Given the description of an element on the screen output the (x, y) to click on. 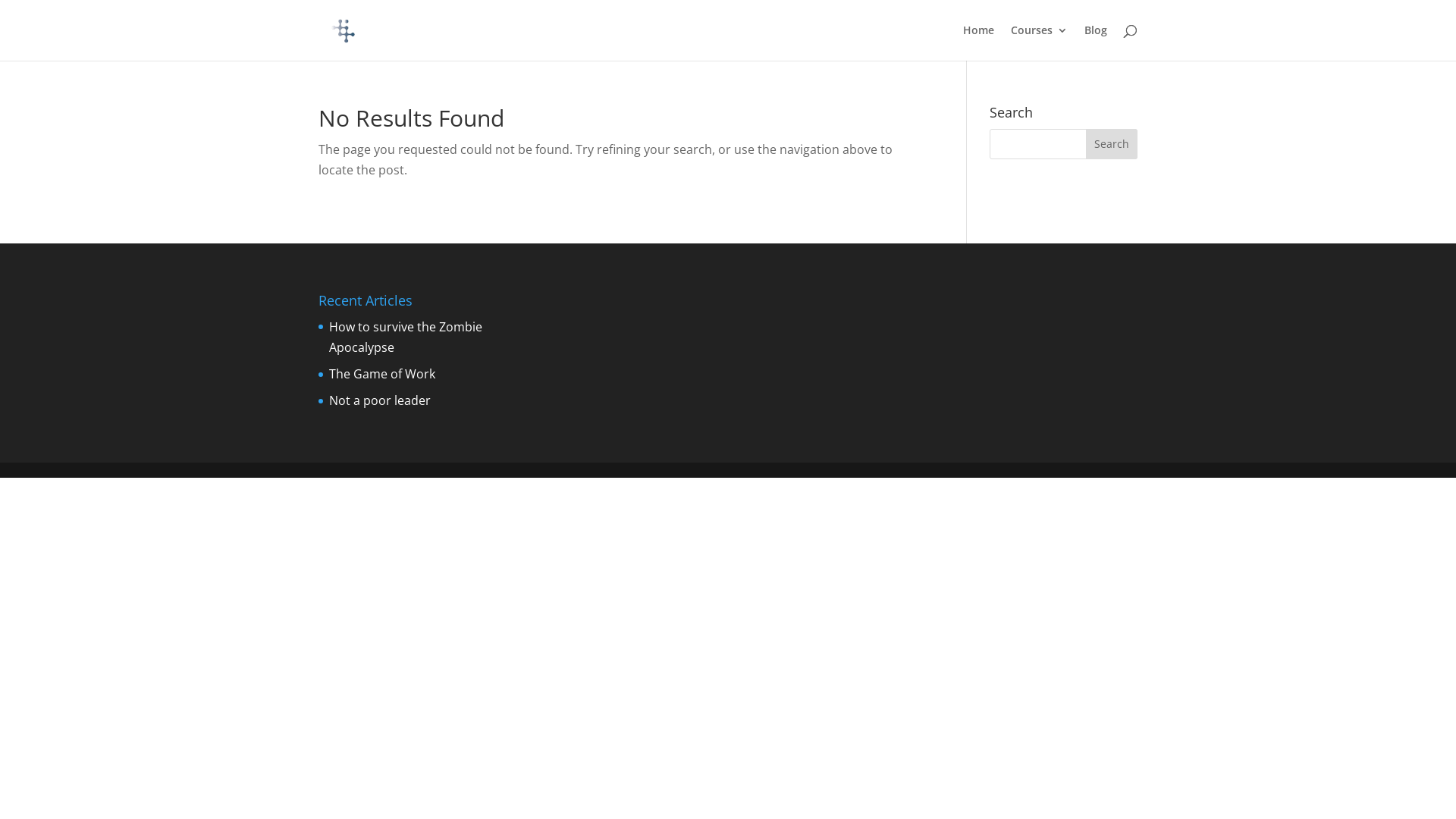
Courses Element type: text (1038, 42)
How to survive the Zombie Apocalypse Element type: text (405, 336)
Search Element type: text (1111, 143)
Not a poor leader Element type: text (379, 400)
Blog Element type: text (1095, 42)
The Game of Work Element type: text (382, 373)
Home Element type: text (978, 42)
